Given the description of an element on the screen output the (x, y) to click on. 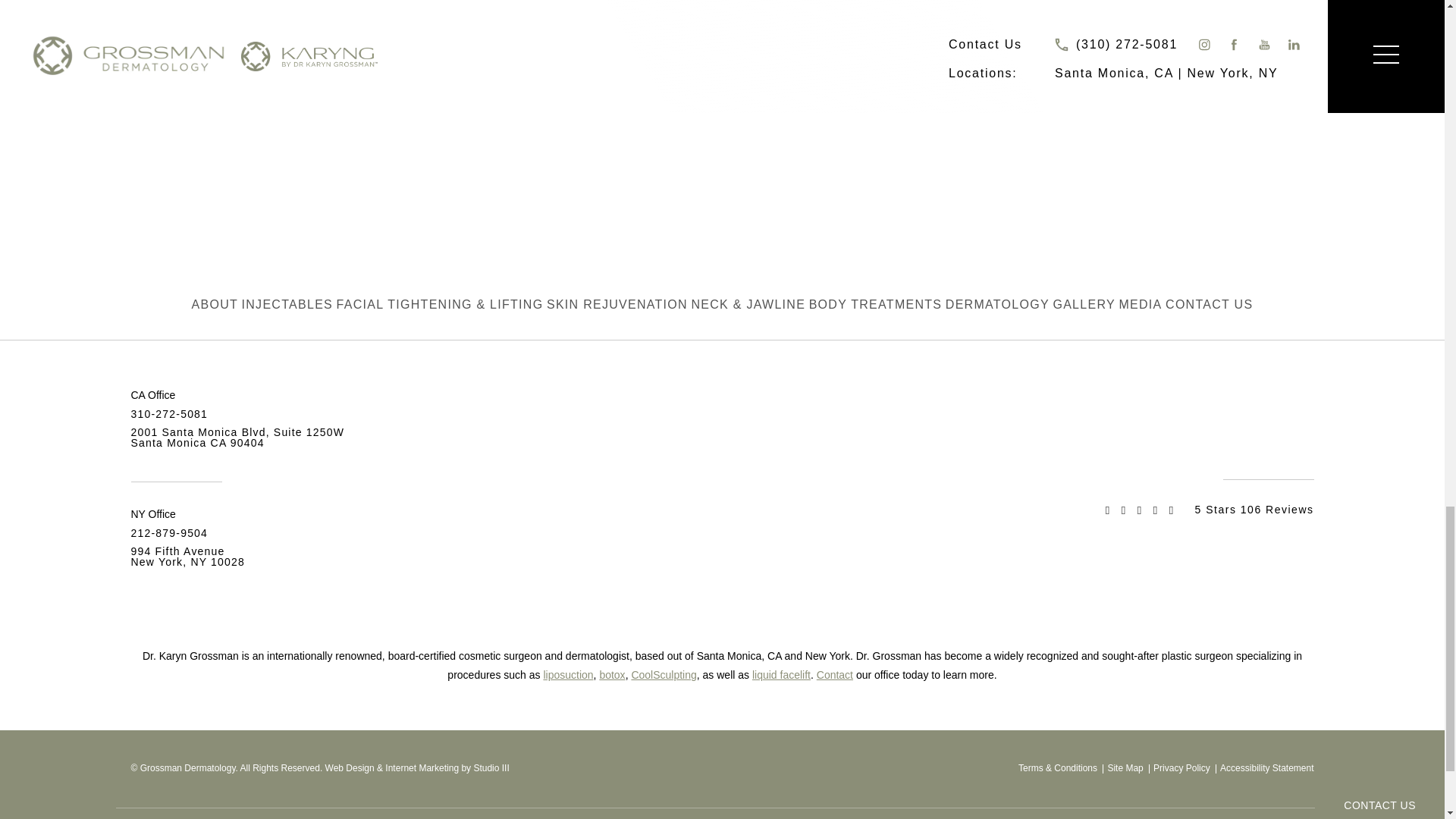
Grossman Dermatology on Linkedin (1302, 445)
Grossman Dermatology on Youtube (1271, 445)
Grossman Dermatology on Instagram (1212, 445)
Grossman Dermatology on Facebook (1241, 445)
